Given the description of an element on the screen output the (x, y) to click on. 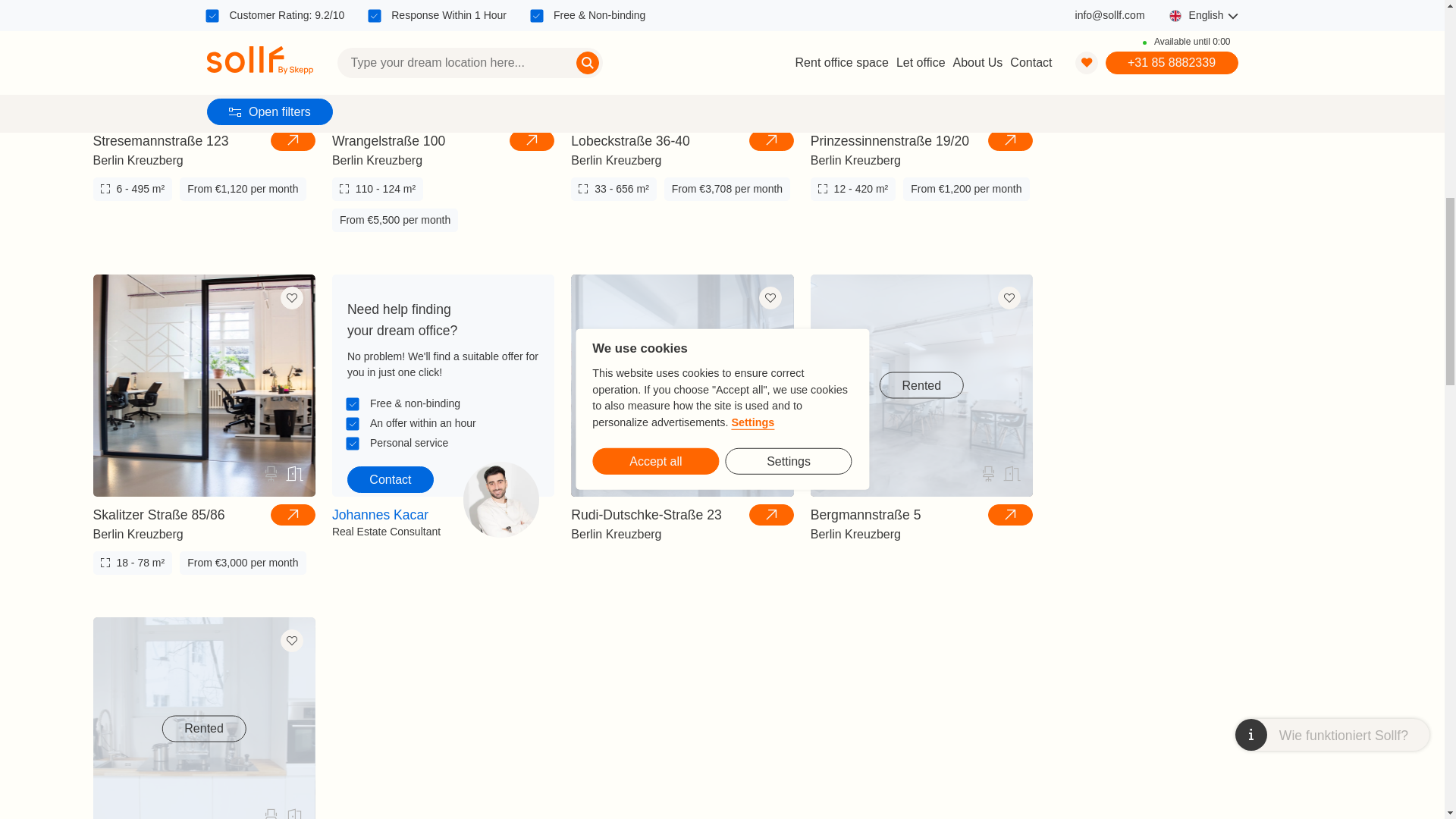
on (352, 403)
on (352, 442)
on (352, 423)
